Given the description of an element on the screen output the (x, y) to click on. 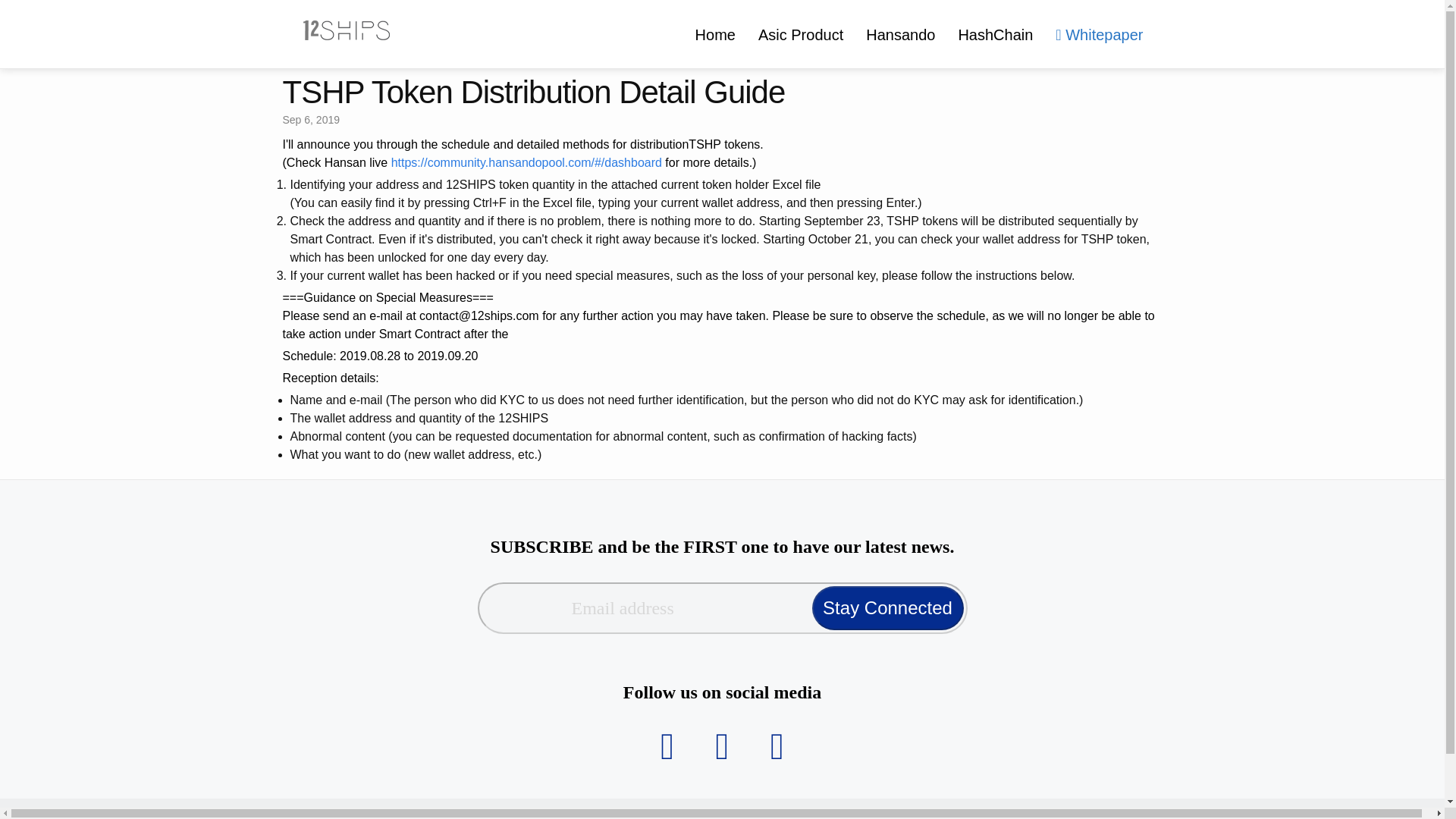
Stay Connected (886, 607)
HashChain (994, 34)
Whitepaper (1098, 34)
Stay Connected (886, 607)
Asic Product (800, 34)
Home (715, 34)
Hansando (900, 34)
